Given the description of an element on the screen output the (x, y) to click on. 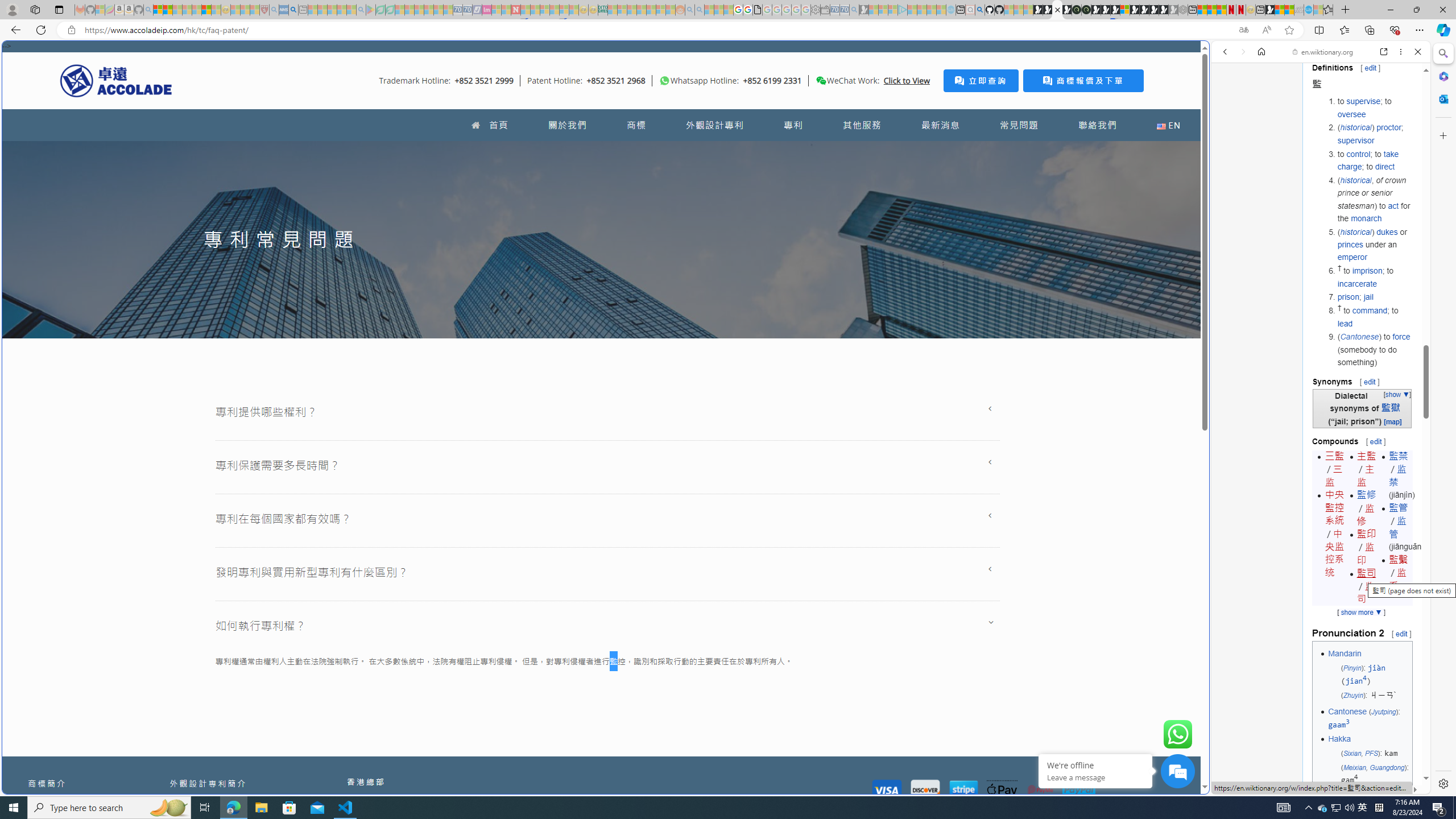
IMAGES (1262, 130)
Search Filter, IMAGES (1262, 129)
utah sues federal government - Search (922, 389)
Kinda Frugal - MSN - Sleeping (651, 9)
supervise (1363, 101)
New Report Confirms 2023 Was Record Hot | Watch - Sleeping (196, 9)
